Given the description of an element on the screen output the (x, y) to click on. 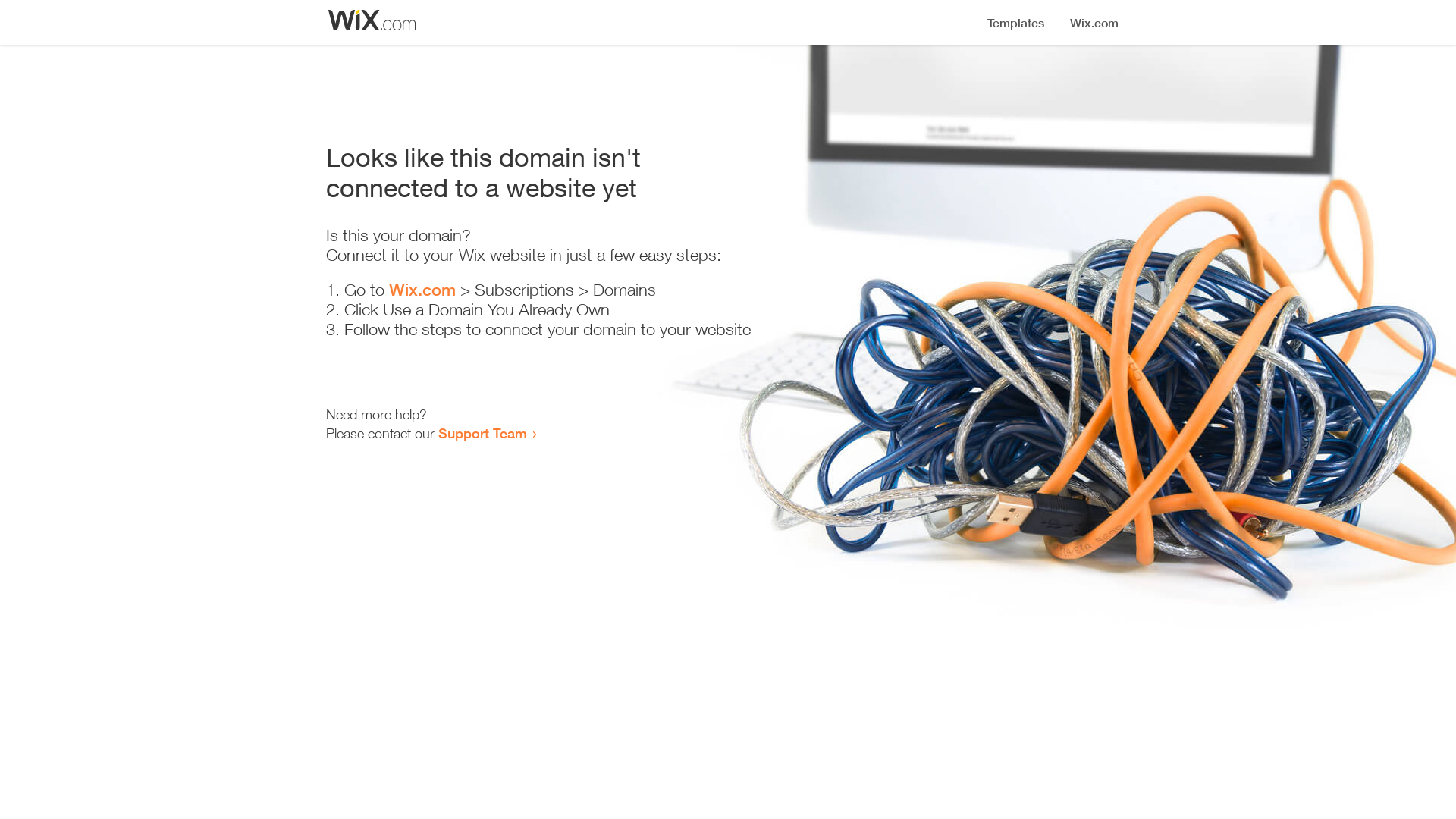
Support Team Element type: text (482, 432)
Wix.com Element type: text (422, 289)
